Given the description of an element on the screen output the (x, y) to click on. 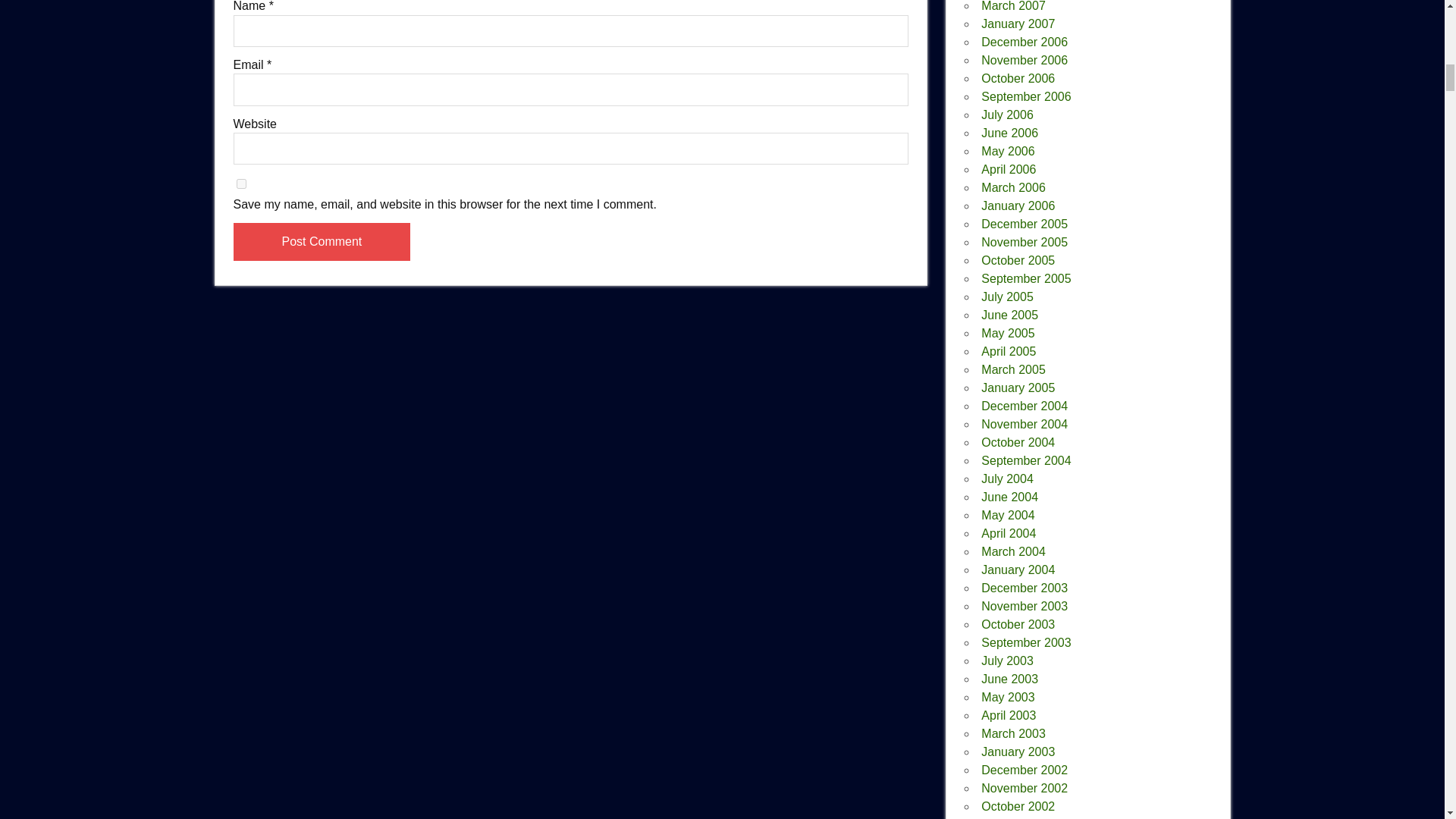
Post Comment (321, 241)
Post Comment (321, 241)
yes (240, 184)
